Given the description of an element on the screen output the (x, y) to click on. 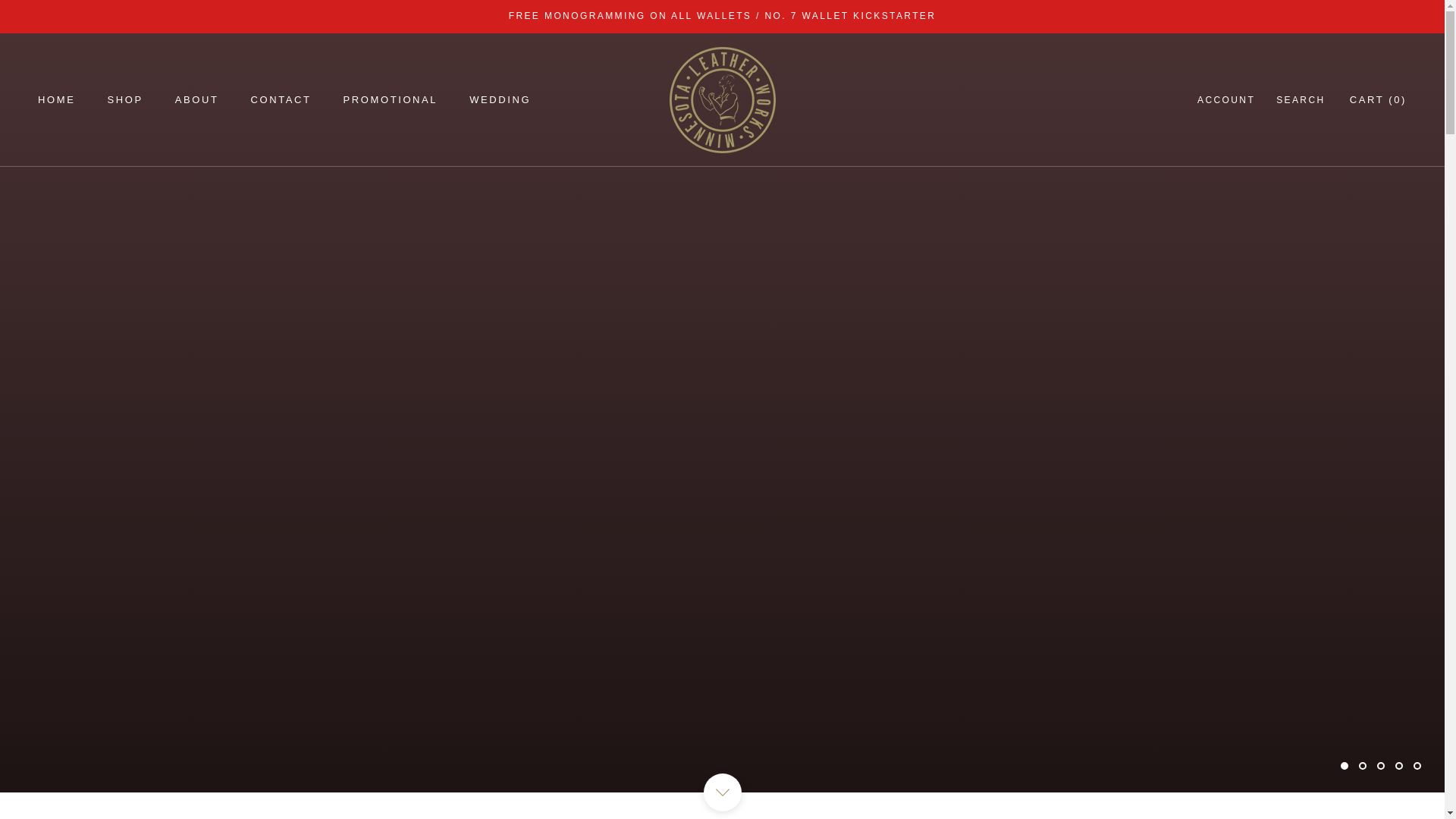
SHOP (124, 99)
